Given the description of an element on the screen output the (x, y) to click on. 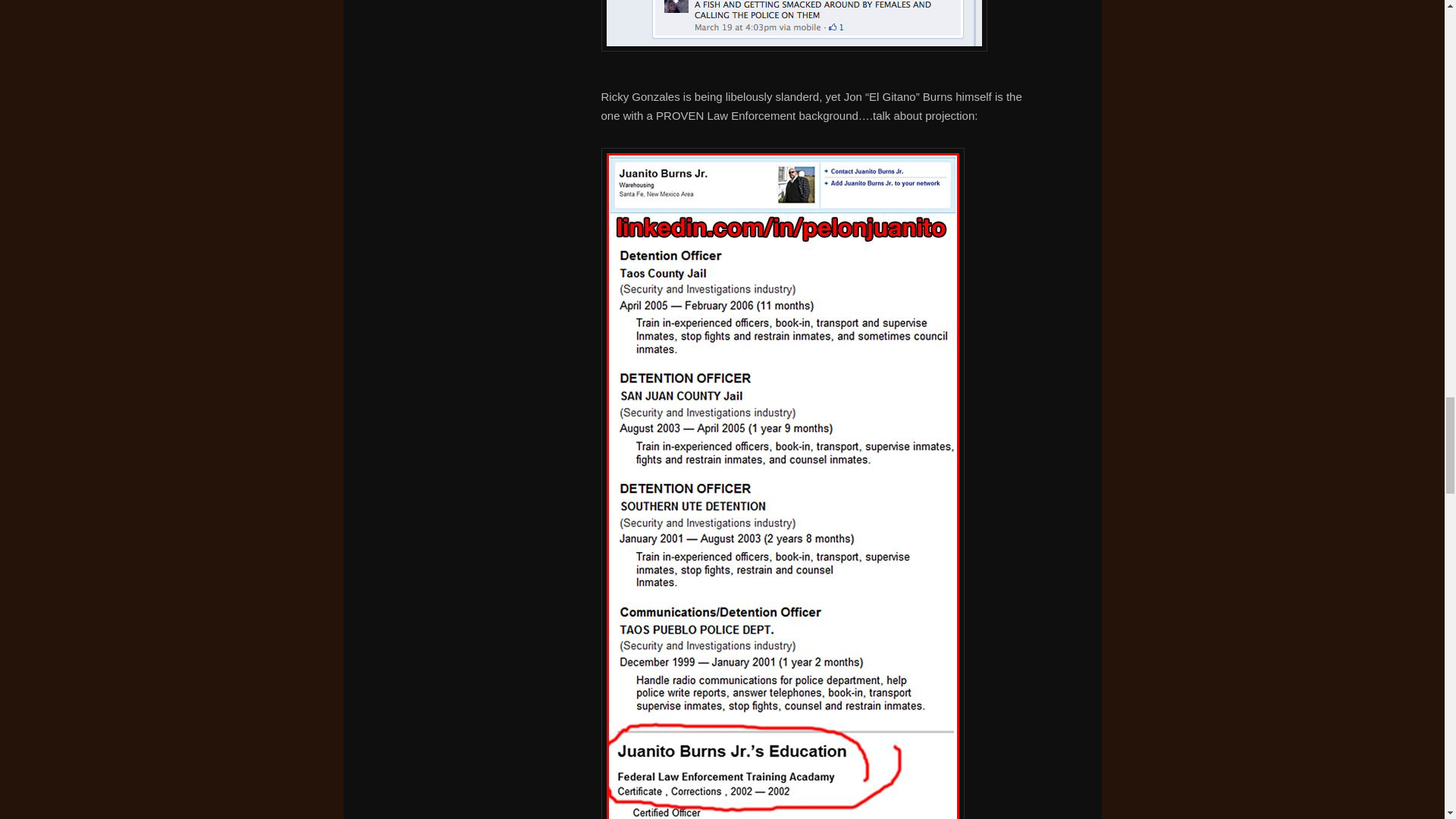
walter-herrera-lies-031913 (793, 25)
